Given the description of an element on the screen output the (x, y) to click on. 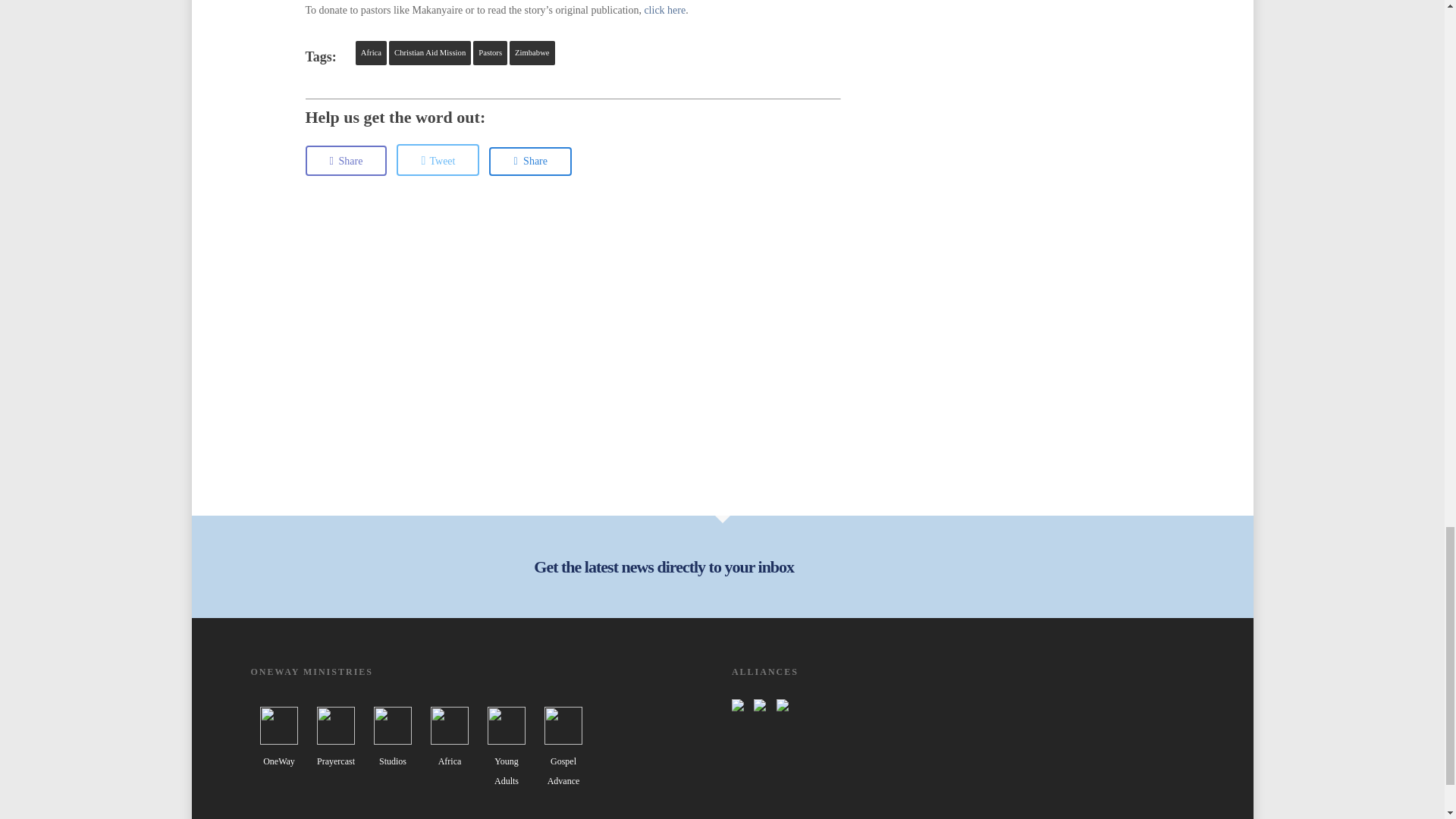
Africa (371, 52)
Tweet this (437, 160)
click here (664, 9)
Pastors (489, 52)
Share this (345, 160)
Share this (530, 161)
Christian Aid Mission (429, 52)
Zimbabwe (531, 52)
